Given the description of an element on the screen output the (x, y) to click on. 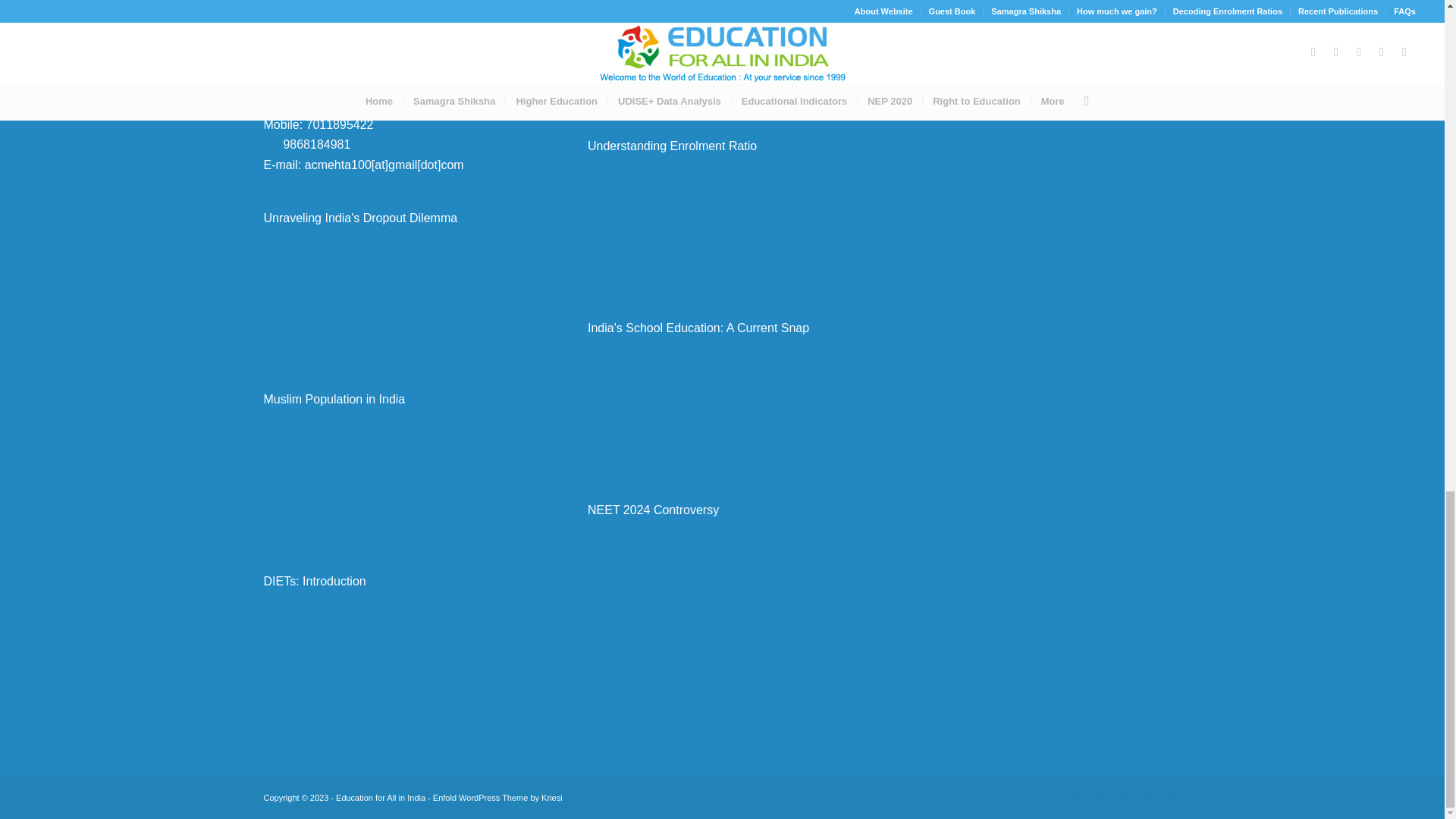
YouTube video player (722, 53)
YouTube video player (397, 658)
YouTube video player (397, 294)
whatsapp logo (269, 141)
YouTube video player (397, 476)
